Given the description of an element on the screen output the (x, y) to click on. 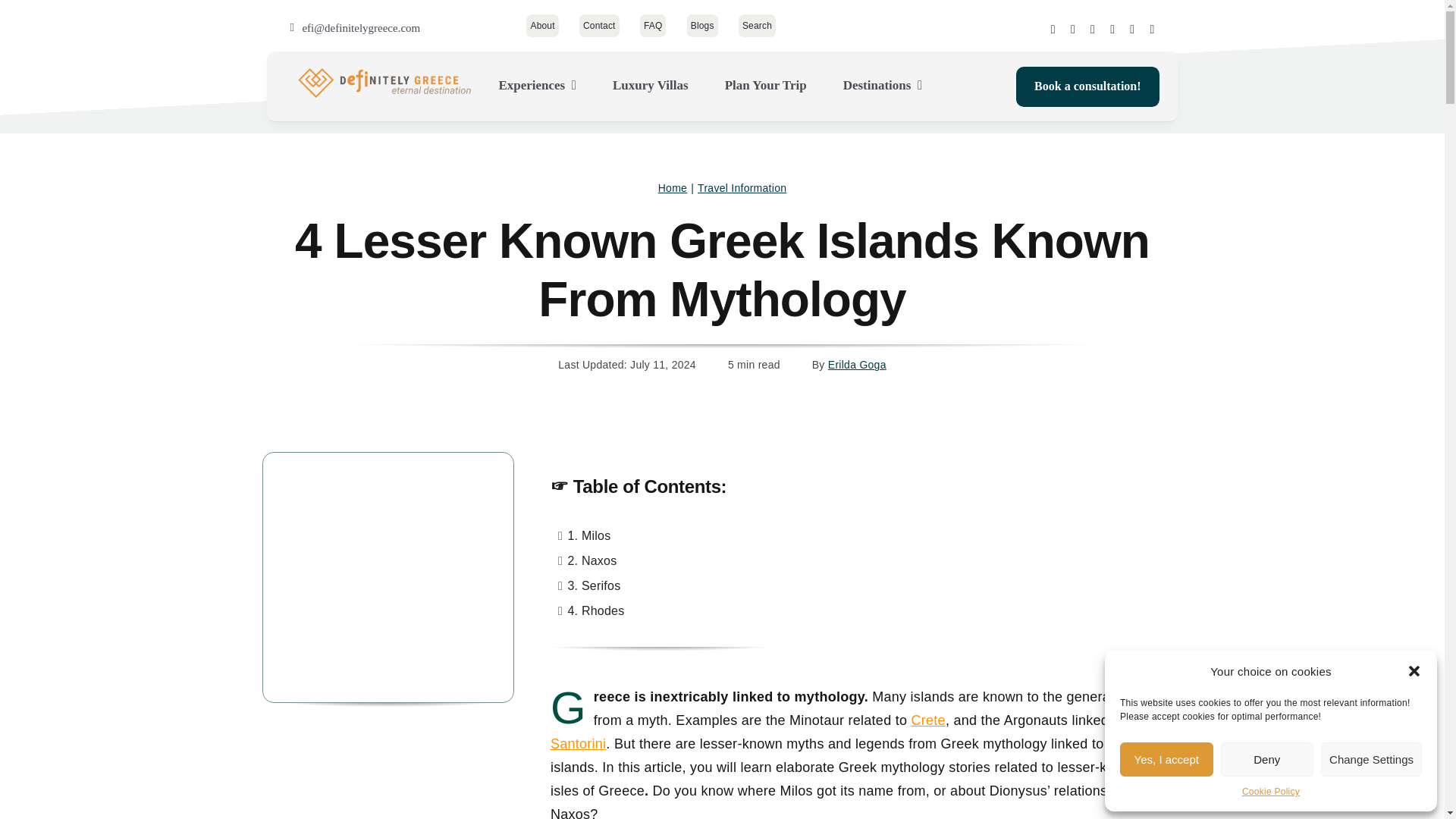
Posts by Erilda Goga (857, 364)
Deny (1267, 759)
FAQ (653, 25)
Contact (599, 25)
Cookie Policy (1270, 791)
Blogs (702, 25)
About (541, 25)
Search (757, 25)
Yes, I accept (1165, 759)
Search (757, 25)
